Given the description of an element on the screen output the (x, y) to click on. 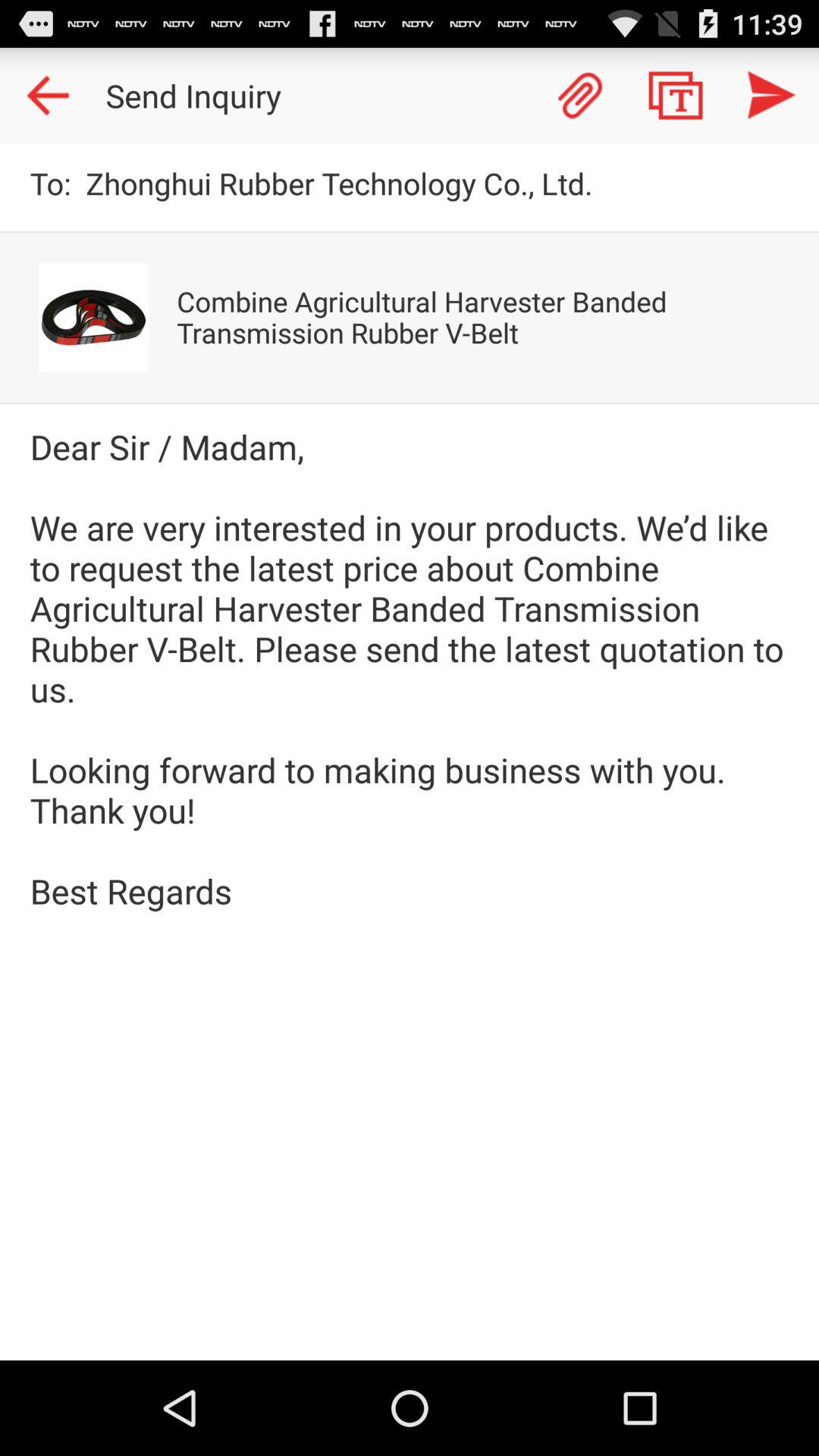
attach a file (579, 95)
